Given the description of an element on the screen output the (x, y) to click on. 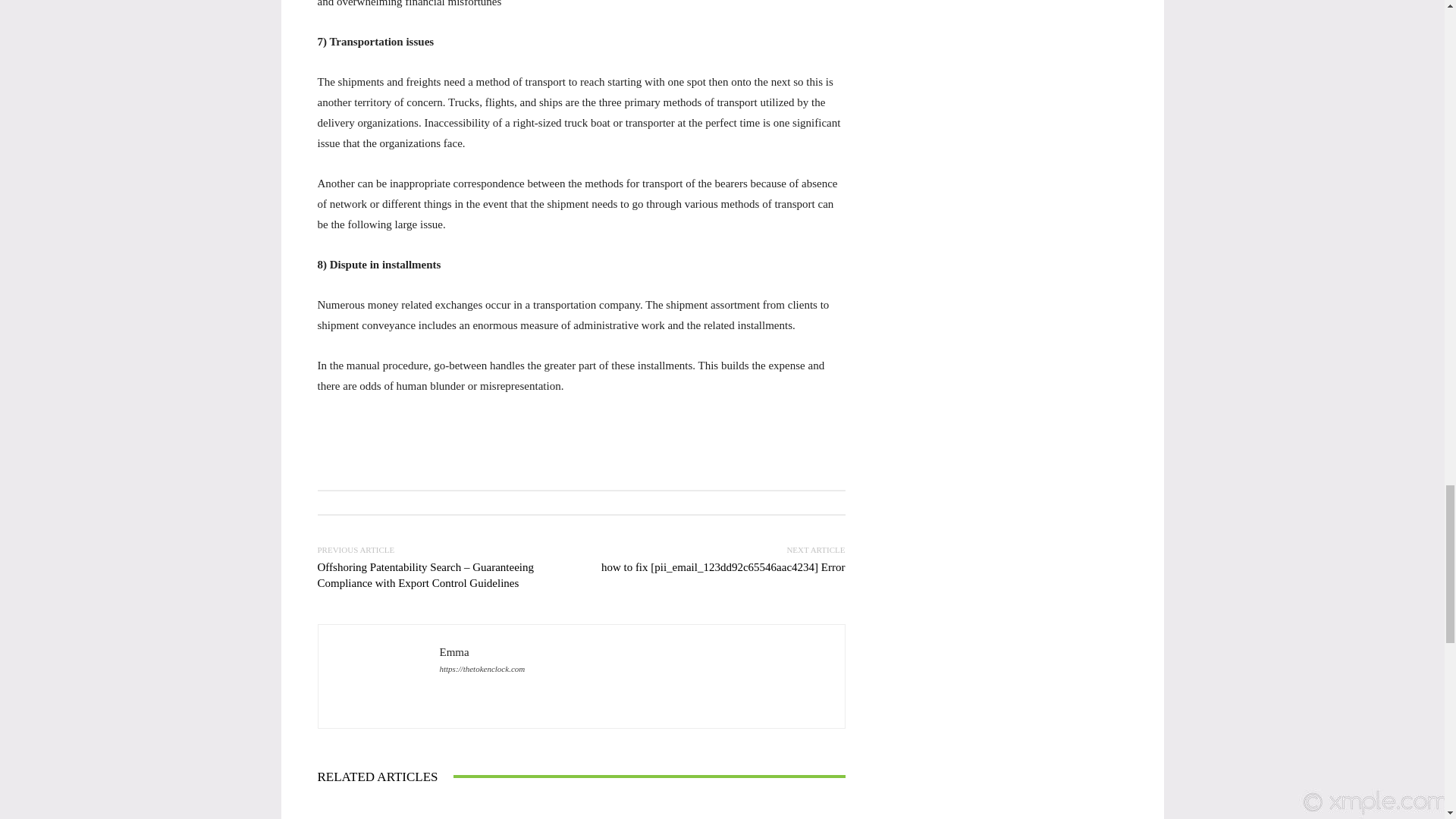
Affordable Carpet Cleaning Near Me: Trusted Experts (581, 810)
